Given the description of an element on the screen output the (x, y) to click on. 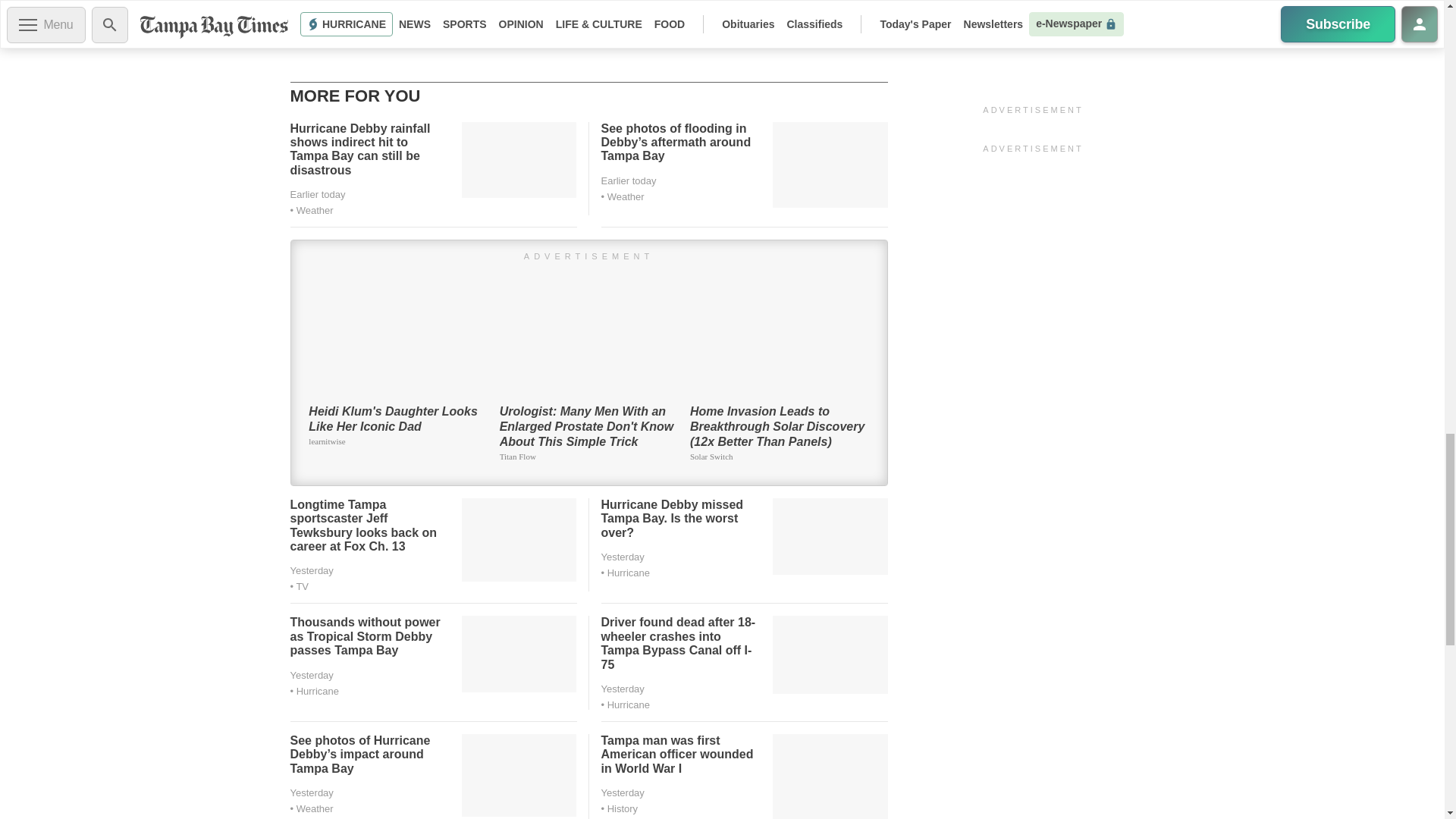
2024-08-05T14:02:55.306Z (311, 675)
Heidi Klum's Daughter Looks Like Her Iconic Dad (397, 371)
2024-08-06T21:07:54.234Z (317, 194)
2024-08-05T12:37:17.632Z (311, 792)
2024-08-05T22:16:54.080Z (621, 556)
2024-08-06T13:00:00Z (311, 570)
2024-08-05T13:29:07.142Z (621, 688)
2024-08-06T18:59:13.305Z (627, 180)
